Given the description of an element on the screen output the (x, y) to click on. 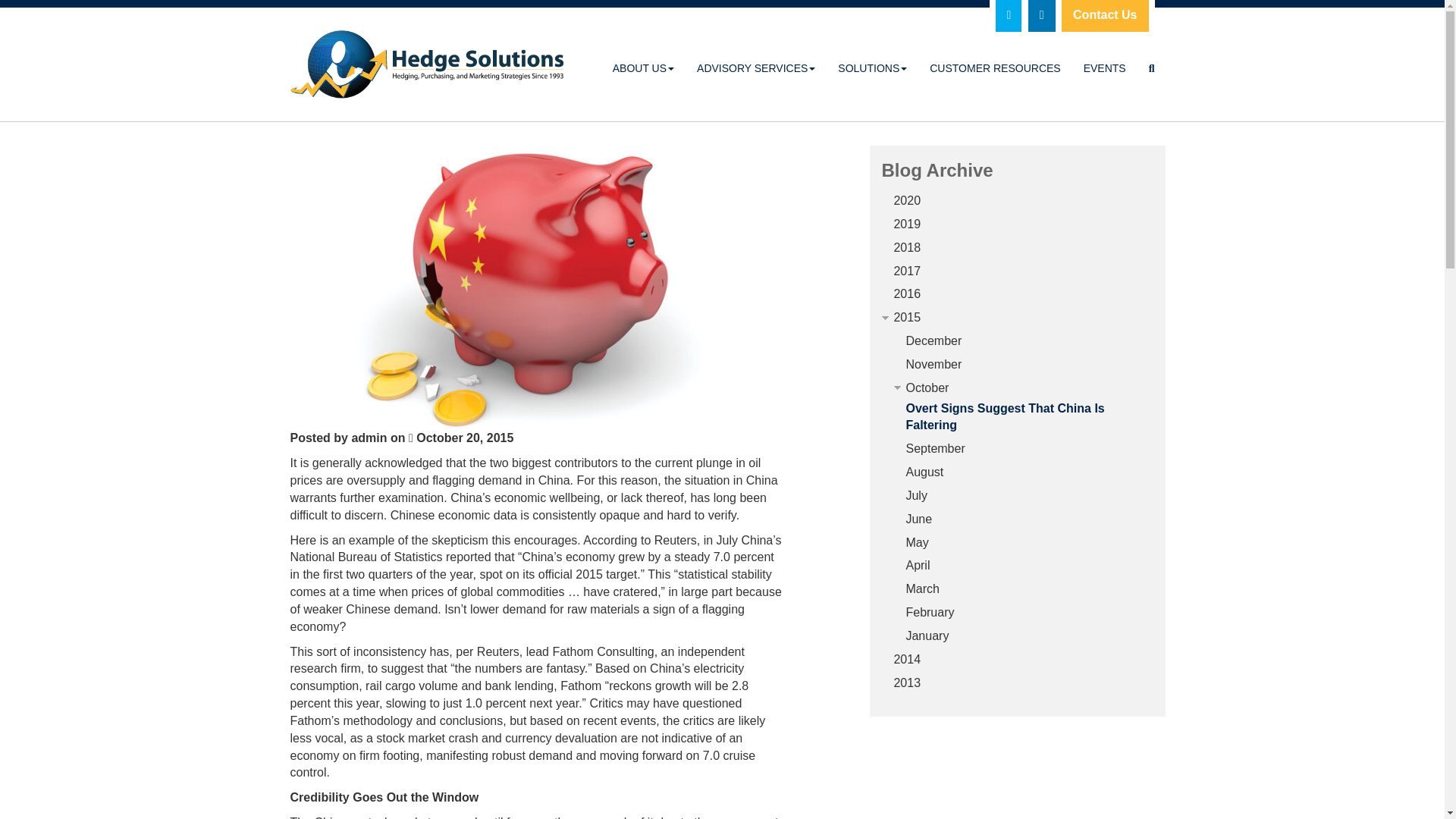
EVENTS (1104, 67)
Contact Us (1104, 18)
ADVISORY SERVICES (756, 67)
SOLUTIONS (872, 67)
CUSTOMER RESOURCES (994, 67)
ABOUT US (643, 67)
